Given the description of an element on the screen output the (x, y) to click on. 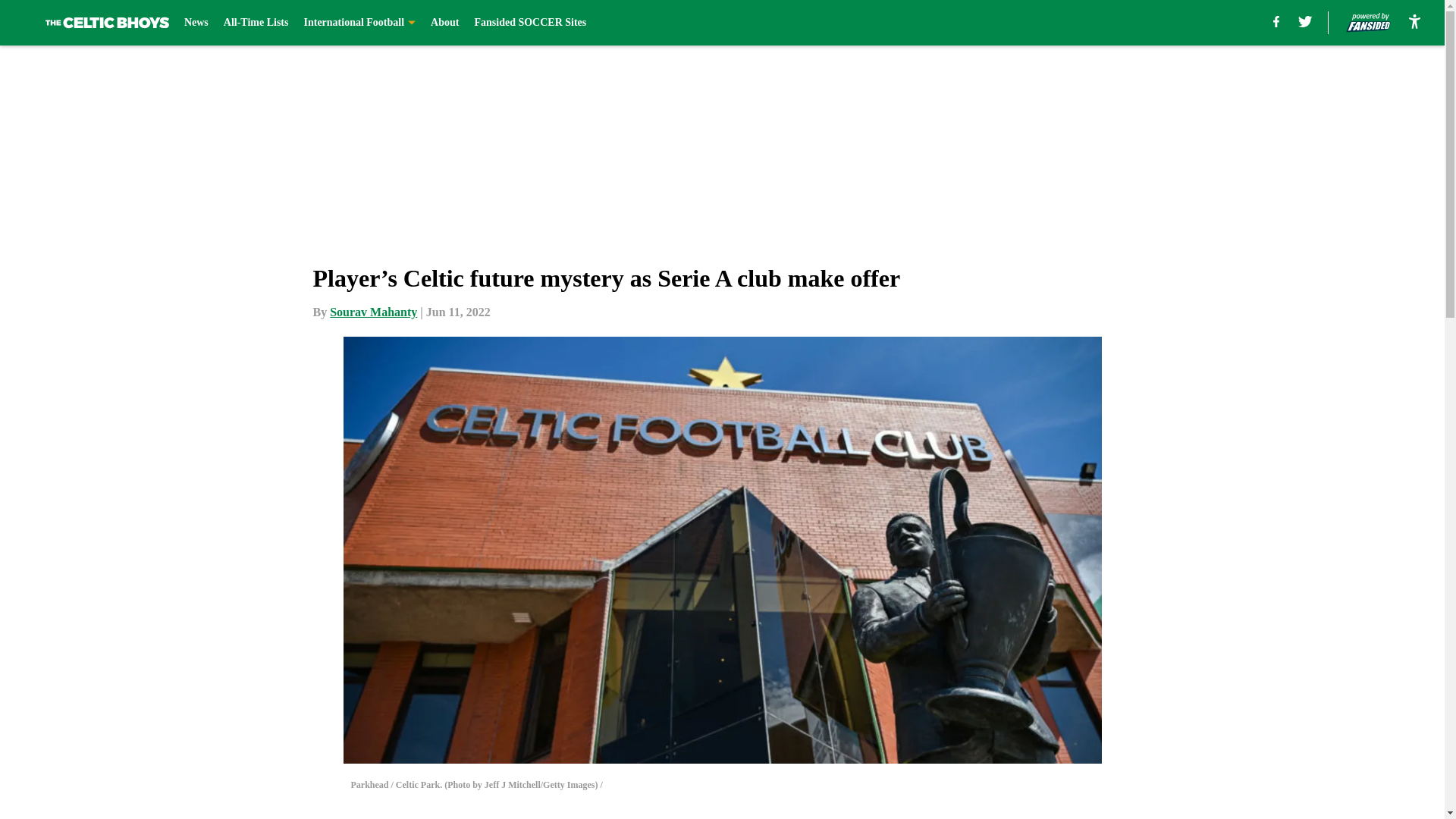
About (444, 22)
News (196, 22)
Sourav Mahanty (373, 311)
All-Time Lists (256, 22)
Fansided SOCCER Sites (530, 22)
